Given the description of an element on the screen output the (x, y) to click on. 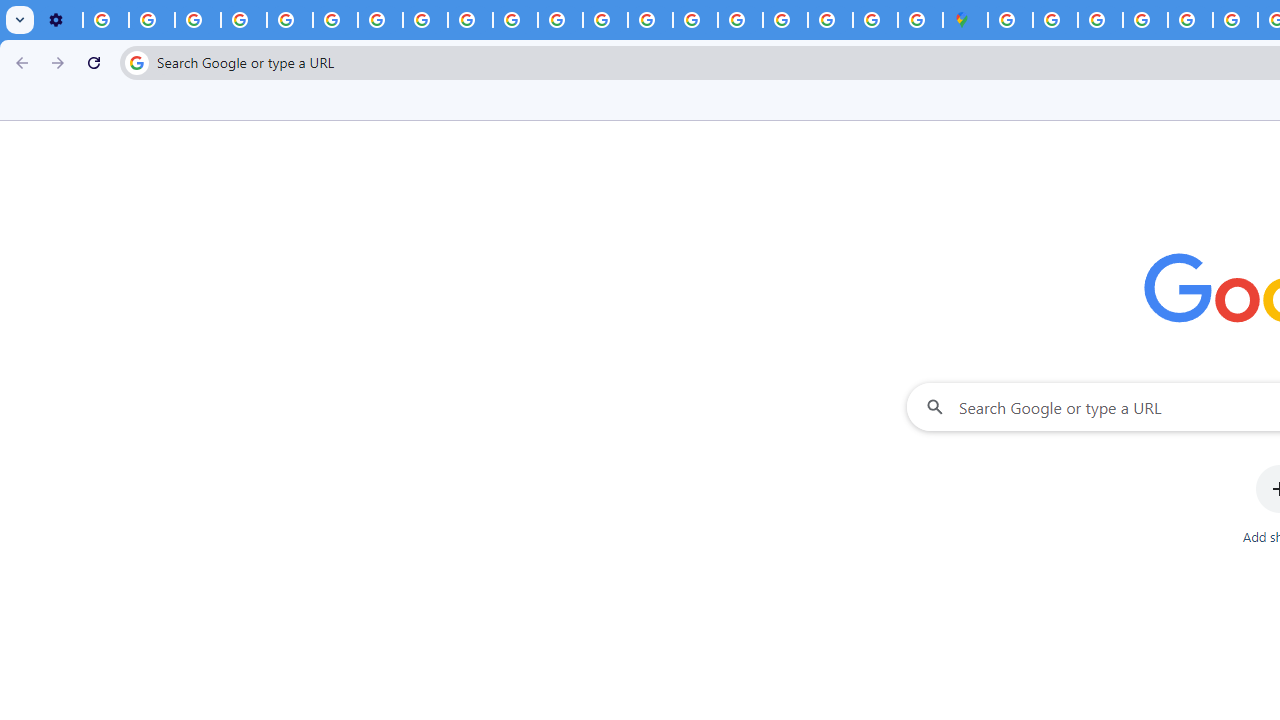
Delete photos & videos - Computer - Google Photos Help (106, 20)
